Given the description of an element on the screen output the (x, y) to click on. 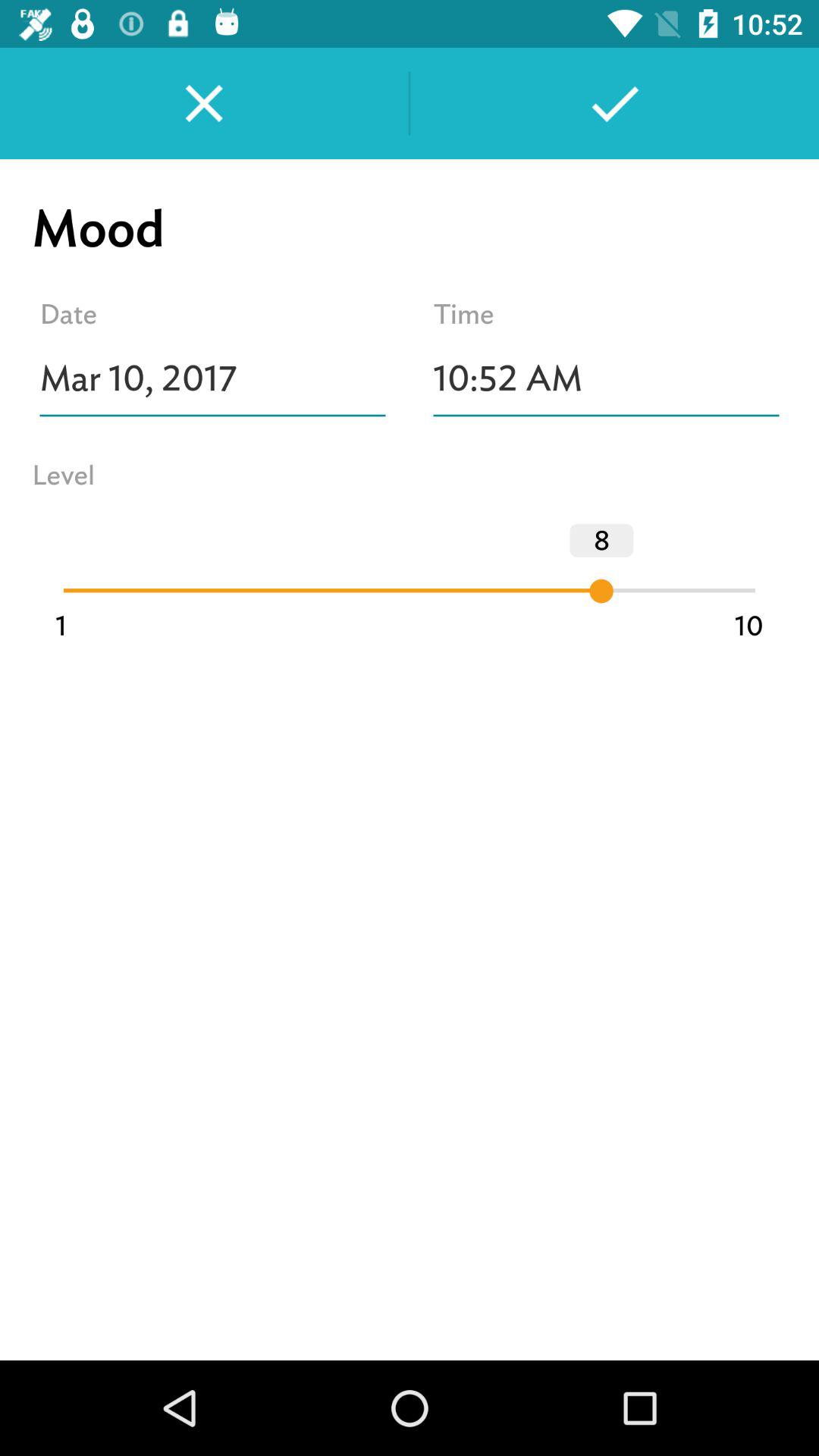
launch the icon to the right of the mar 10, 2017 icon (606, 378)
